Given the description of an element on the screen output the (x, y) to click on. 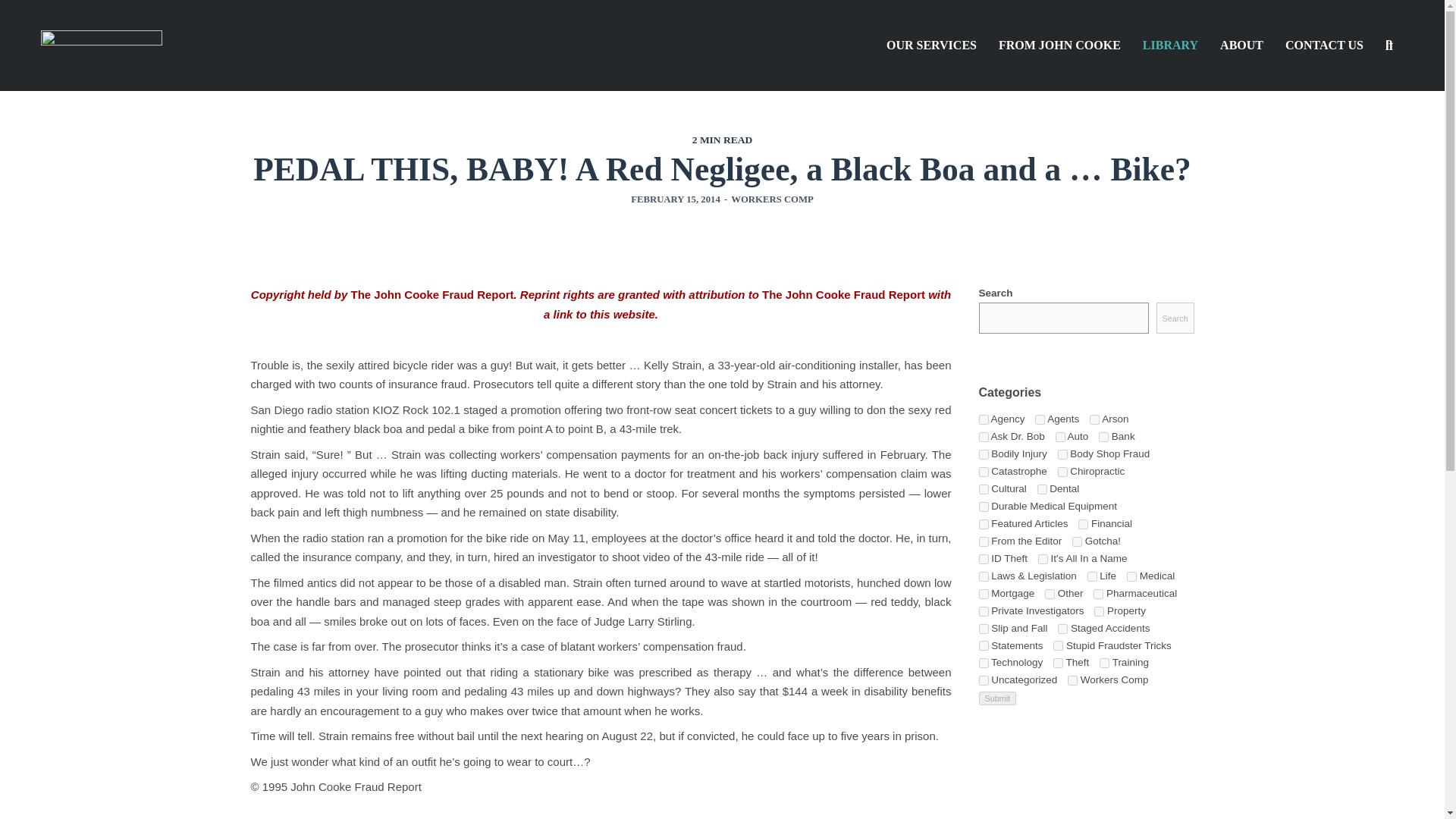
47 (983, 559)
49 (1076, 542)
42 (1040, 419)
WORKERS COMP (771, 199)
24 (983, 419)
53 (983, 437)
OUR SERVICES (931, 45)
Submit (997, 698)
CONTACT US (1318, 45)
32 (983, 506)
